Given the description of an element on the screen output the (x, y) to click on. 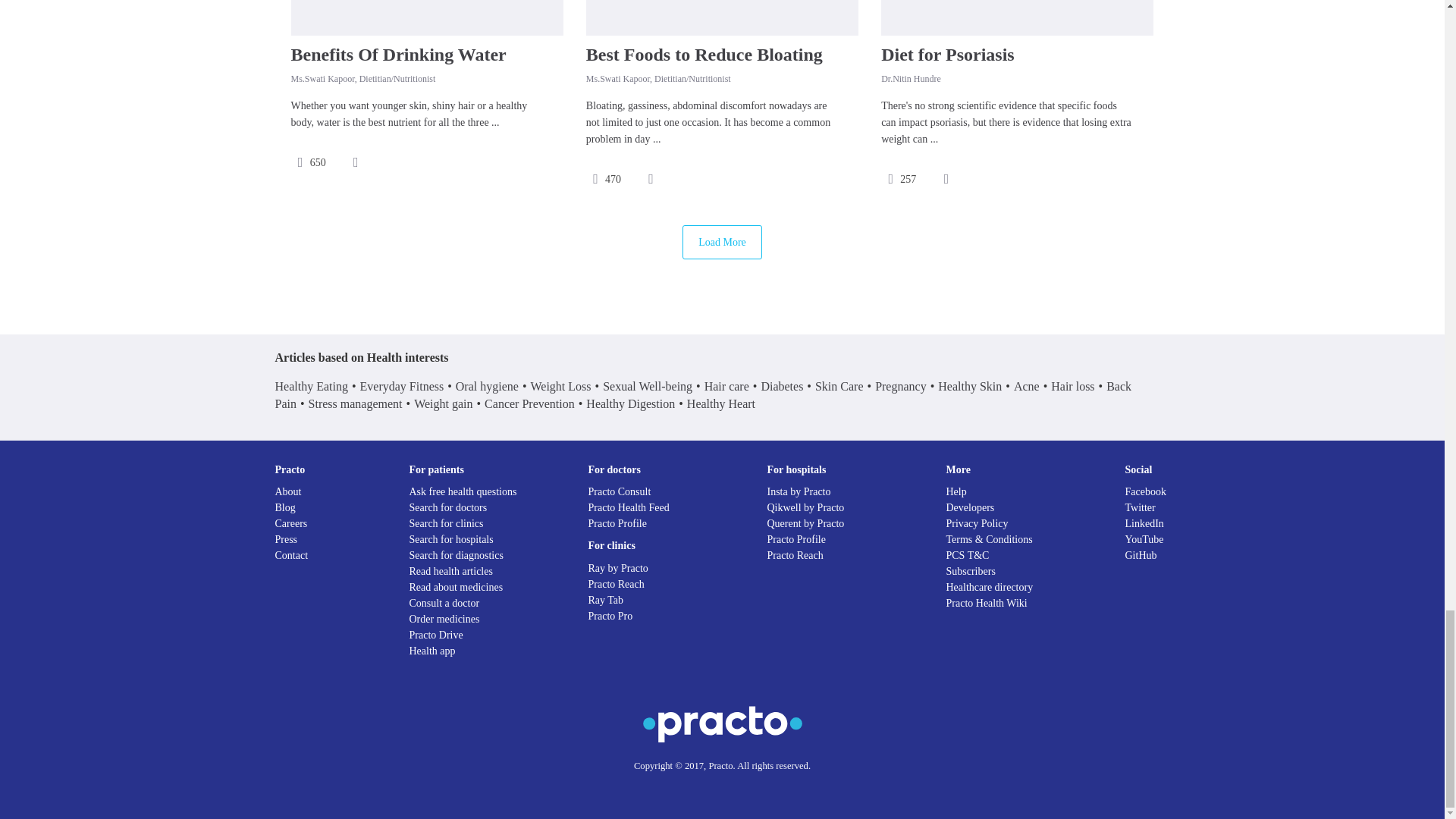
Ask free health questions (462, 491)
Consult a doctor (444, 603)
Press (286, 539)
Read about medicines (456, 586)
Search for doctors (448, 507)
Search for hospitals (451, 539)
Careers (291, 523)
Blog (285, 507)
Read Health Articles (451, 571)
Order medicines (444, 618)
